Given the description of an element on the screen output the (x, y) to click on. 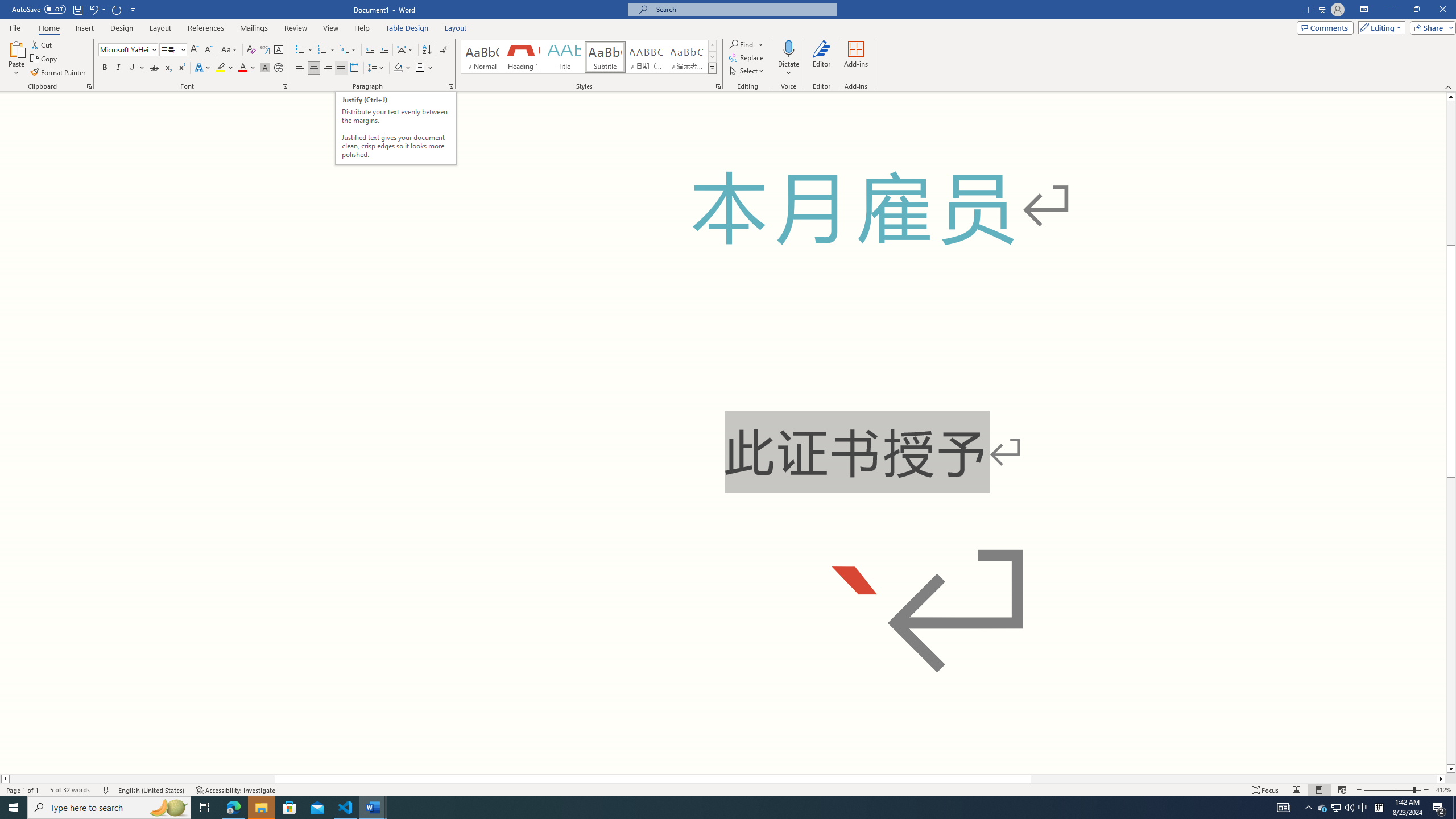
Row Down (711, 56)
Styles (711, 67)
Page down (1450, 620)
Spelling and Grammar Check No Errors (105, 790)
Character Border (278, 49)
Table Design (407, 28)
Column left (5, 778)
Text Effects and Typography (202, 67)
